Given the description of an element on the screen output the (x, y) to click on. 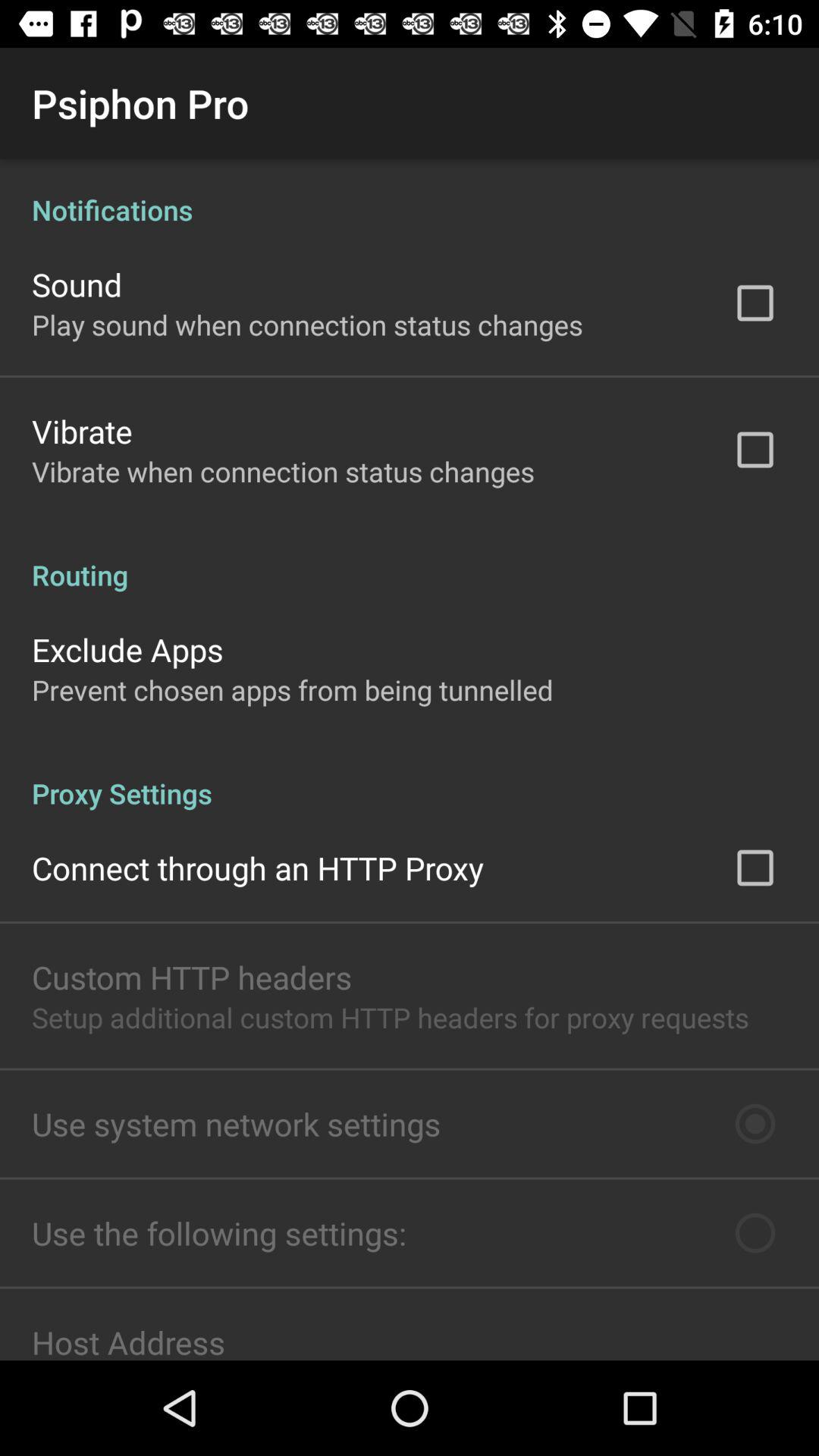
turn on the use system network icon (235, 1123)
